Given the description of an element on the screen output the (x, y) to click on. 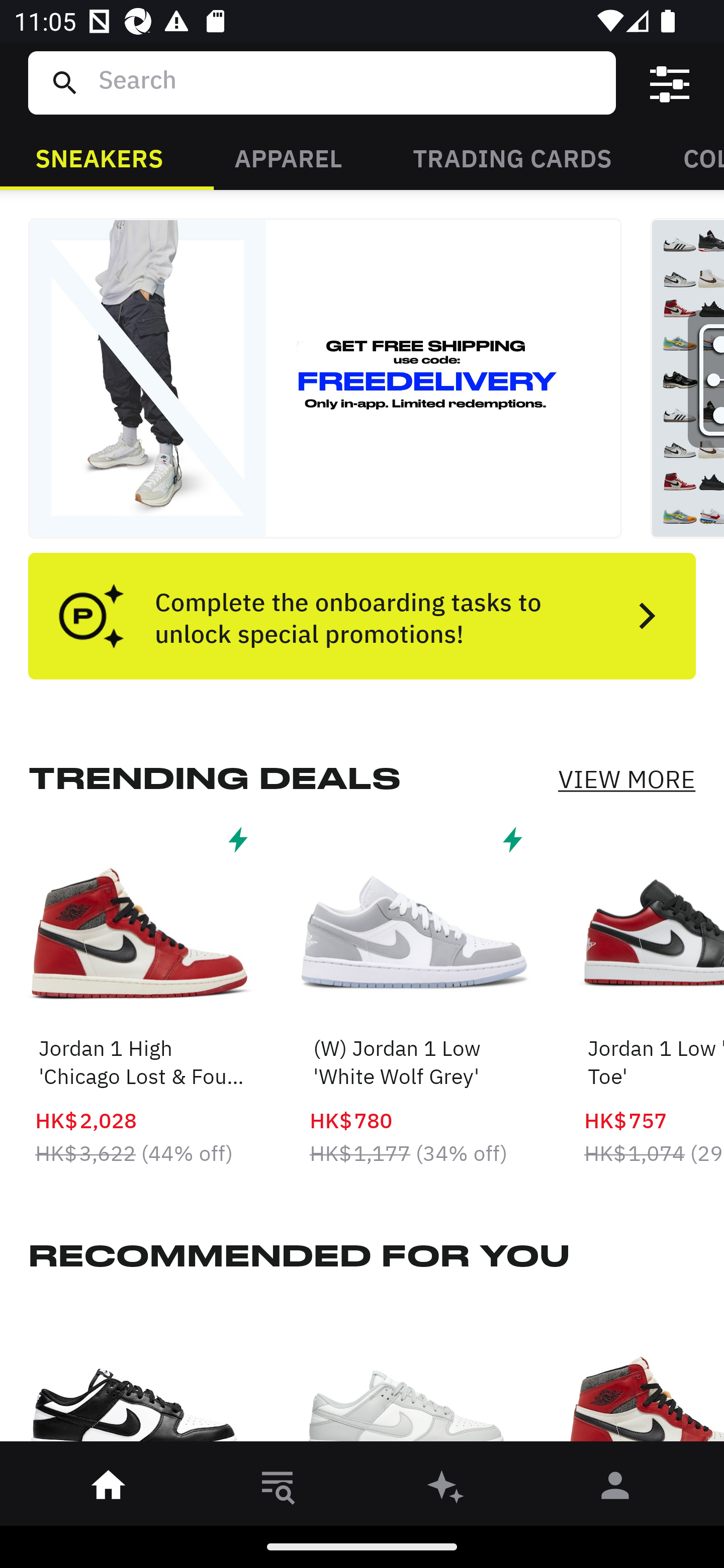
Search (349, 82)
 (669, 82)
SNEAKERS (99, 156)
APPAREL (287, 156)
TRADING CARDS (512, 156)
VIEW MORE (626, 779)
󰋜 (108, 1488)
󱎸 (277, 1488)
󰫢 (446, 1488)
󰀄 (615, 1488)
